Given the description of an element on the screen output the (x, y) to click on. 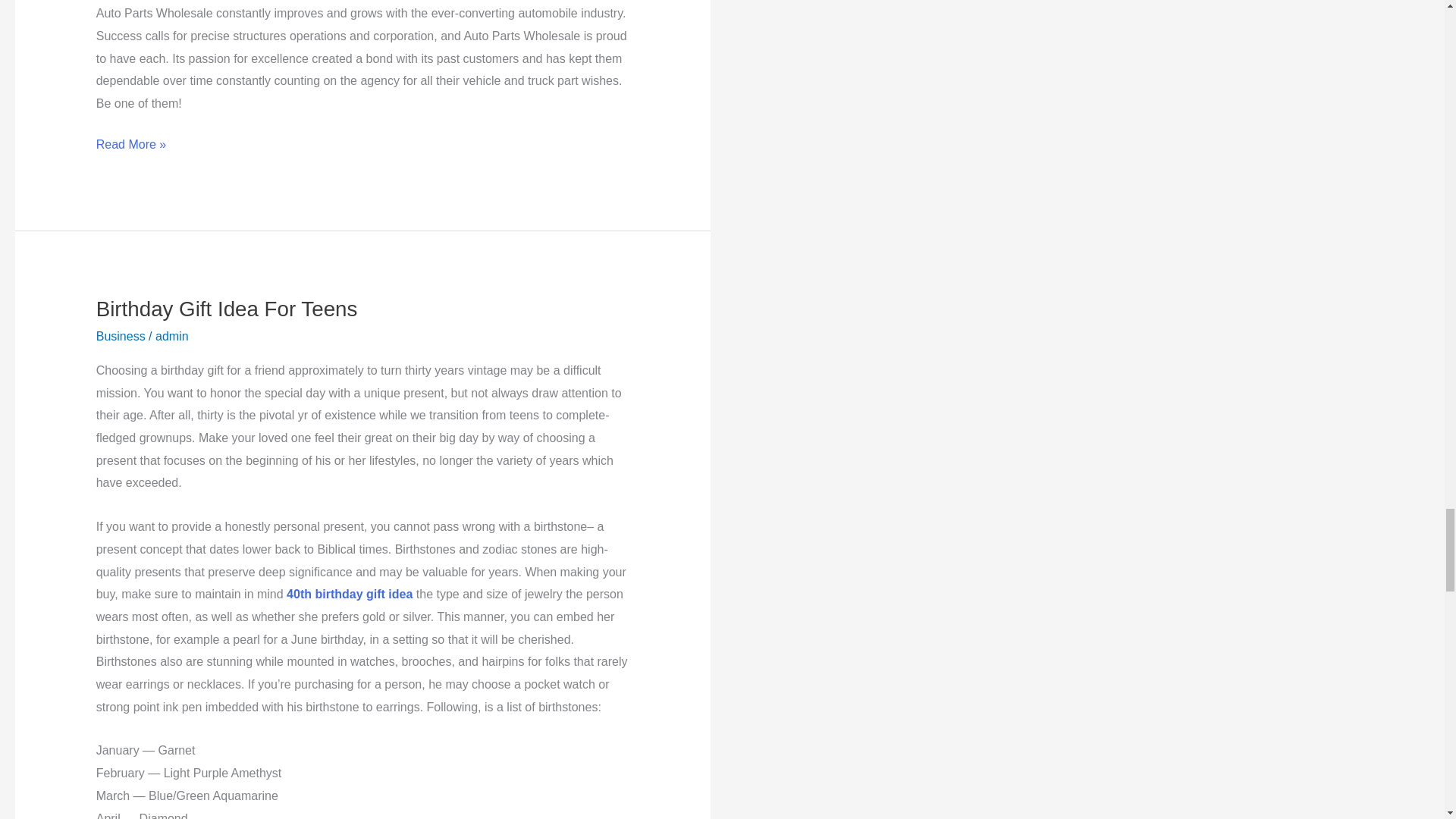
Business (120, 336)
40th birthday gift idea (349, 594)
Birthday Gift Idea For Teens (227, 309)
View all posts by admin (172, 336)
admin (172, 336)
